Given the description of an element on the screen output the (x, y) to click on. 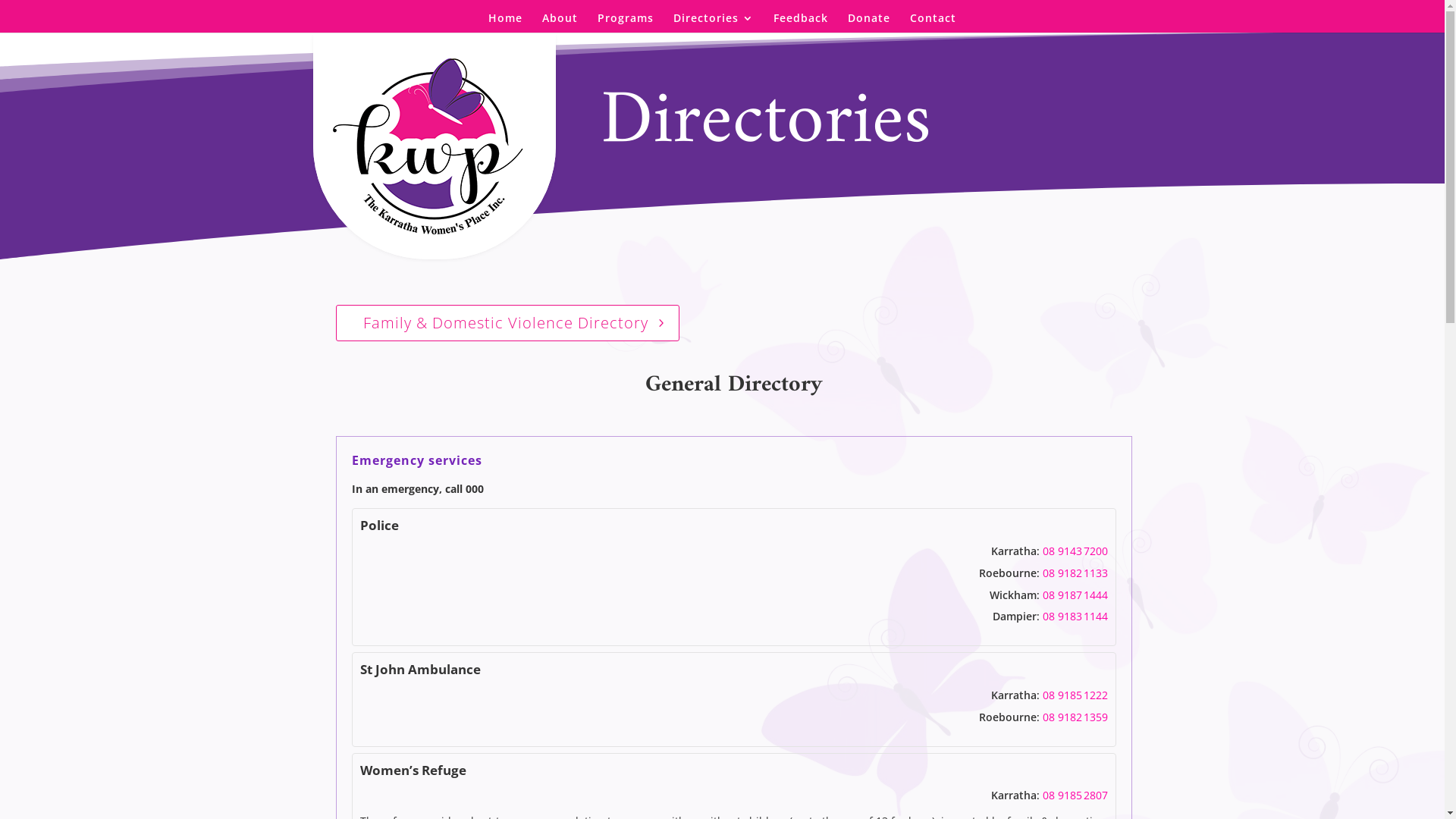
Contact Element type: text (933, 22)
About Element type: text (559, 22)
Family & Domestic Violence Directory Element type: text (506, 322)
Karratha-300x300-No-Feather Element type: hover (434, 145)
Directories Element type: text (713, 22)
Programs Element type: text (625, 22)
Home Element type: text (505, 22)
Feedback Element type: text (800, 22)
Donate Element type: text (868, 22)
